Given the description of an element on the screen output the (x, y) to click on. 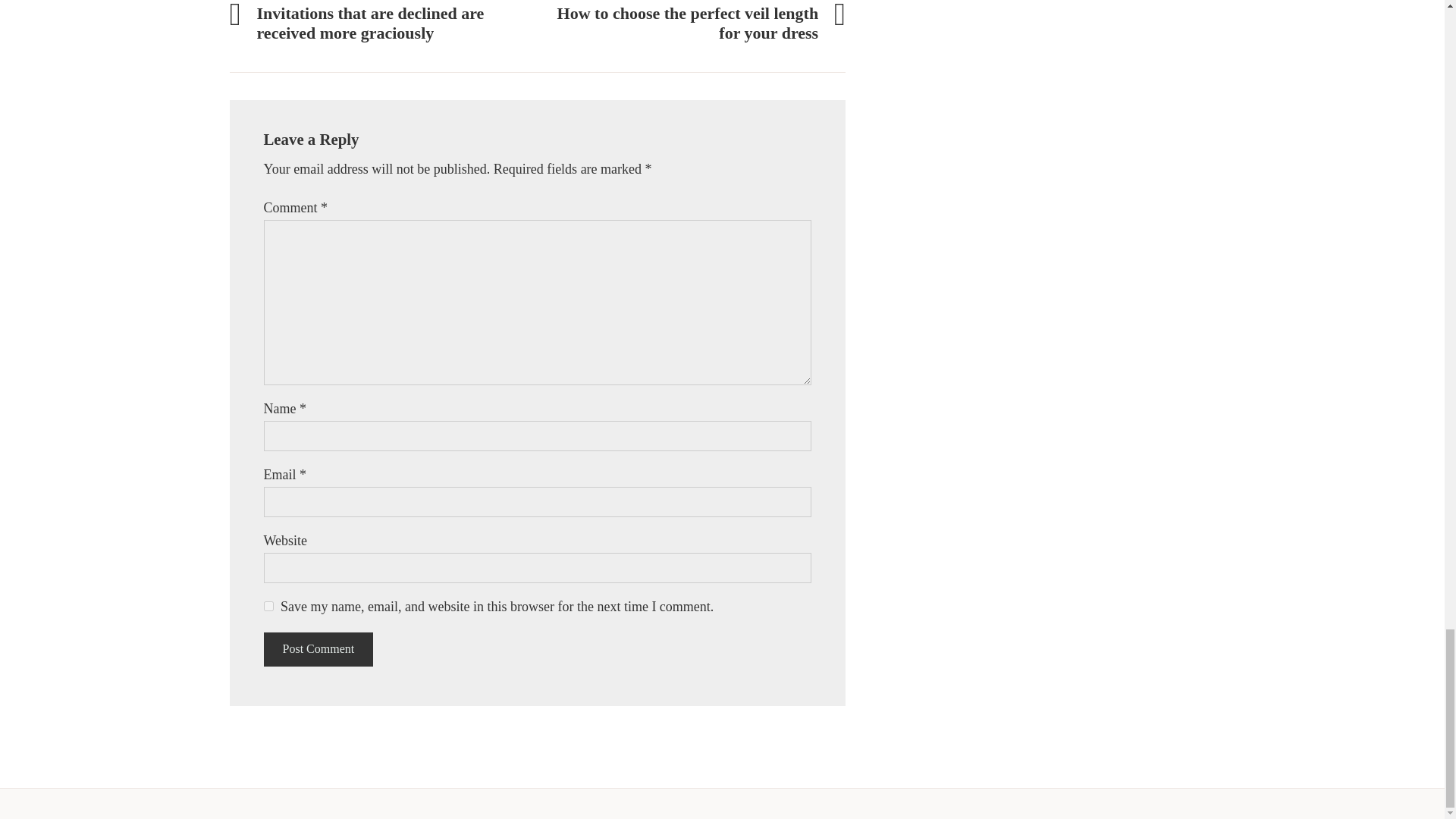
Post Comment (318, 649)
yes (268, 605)
Post Comment (691, 22)
